Given the description of an element on the screen output the (x, y) to click on. 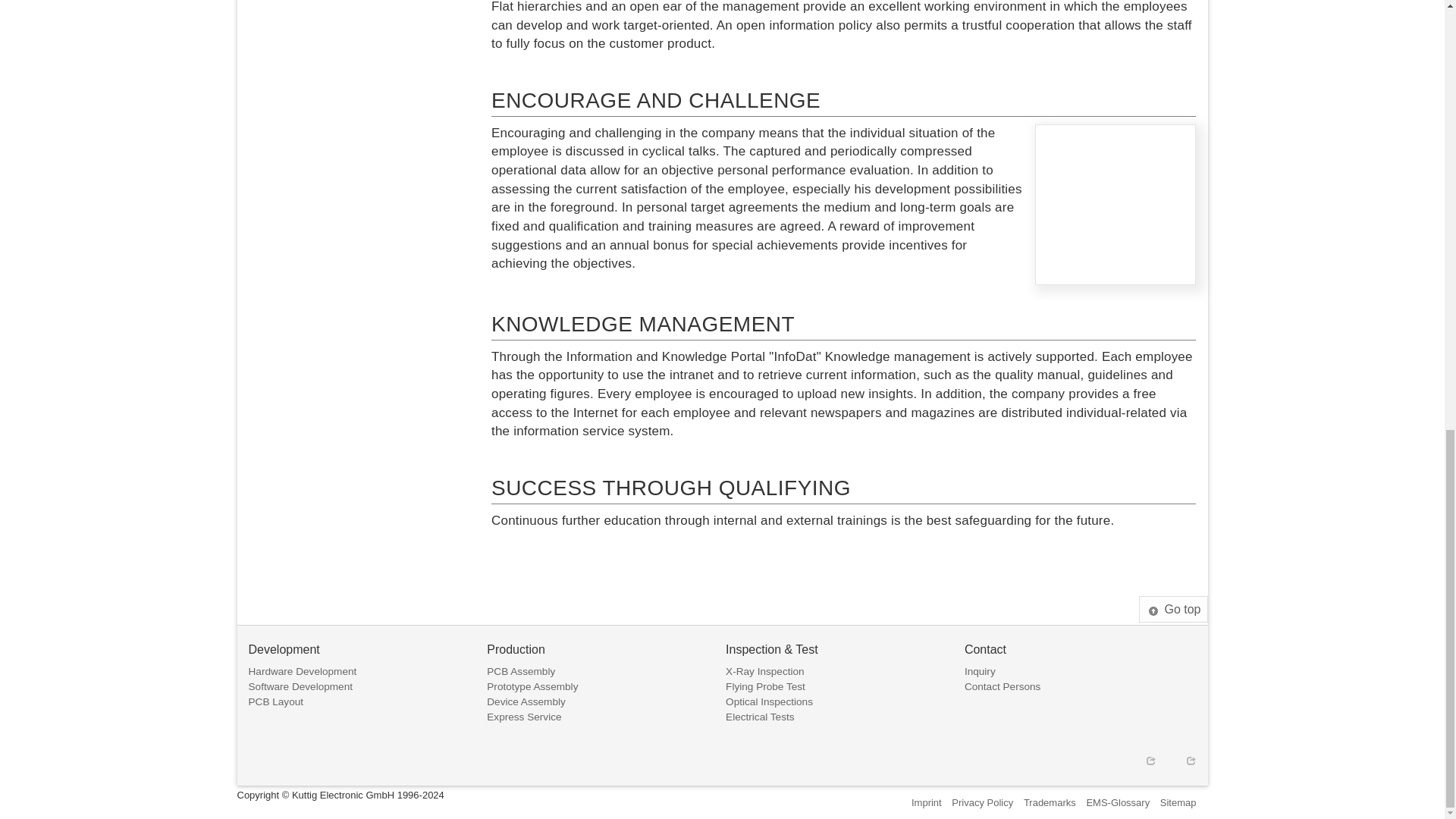
Go top (1172, 609)
Hardware Development (302, 671)
